Given the description of an element on the screen output the (x, y) to click on. 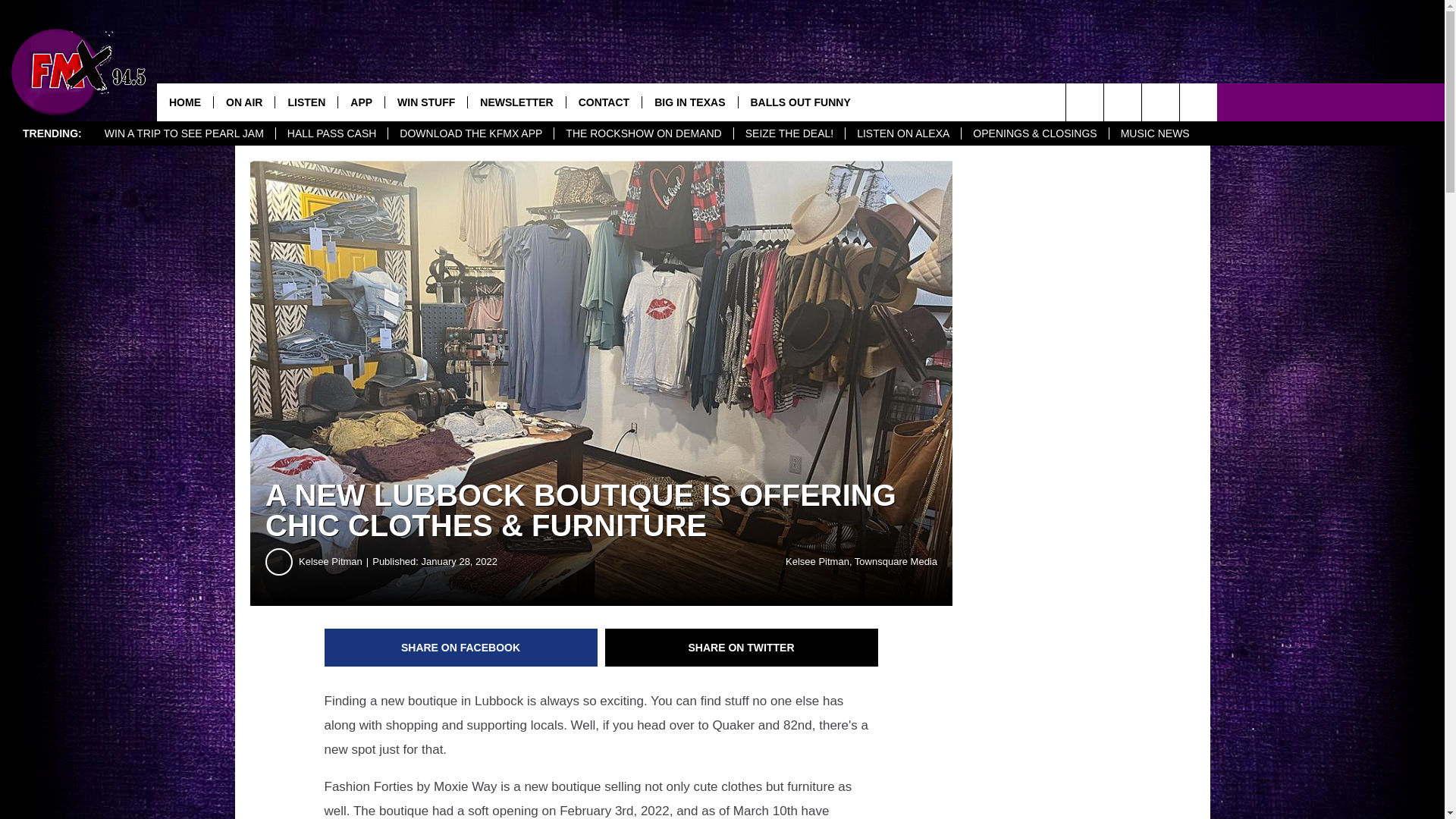
LISTEN (306, 102)
WIN STUFF (425, 102)
DOWNLOAD THE KFMX APP (470, 133)
HOME (184, 102)
WIN A TRIP TO SEE PEARL JAM (184, 133)
LISTEN ON ALEXA (902, 133)
MUSIC NEWS (1154, 133)
HALL PASS CASH (331, 133)
Share on Facebook (460, 647)
SEIZE THE DEAL! (788, 133)
Share on Twitter (741, 647)
TRENDING: (52, 133)
NEWSLETTER (515, 102)
APP (360, 102)
THE ROCKSHOW ON DEMAND (642, 133)
